Given the description of an element on the screen output the (x, y) to click on. 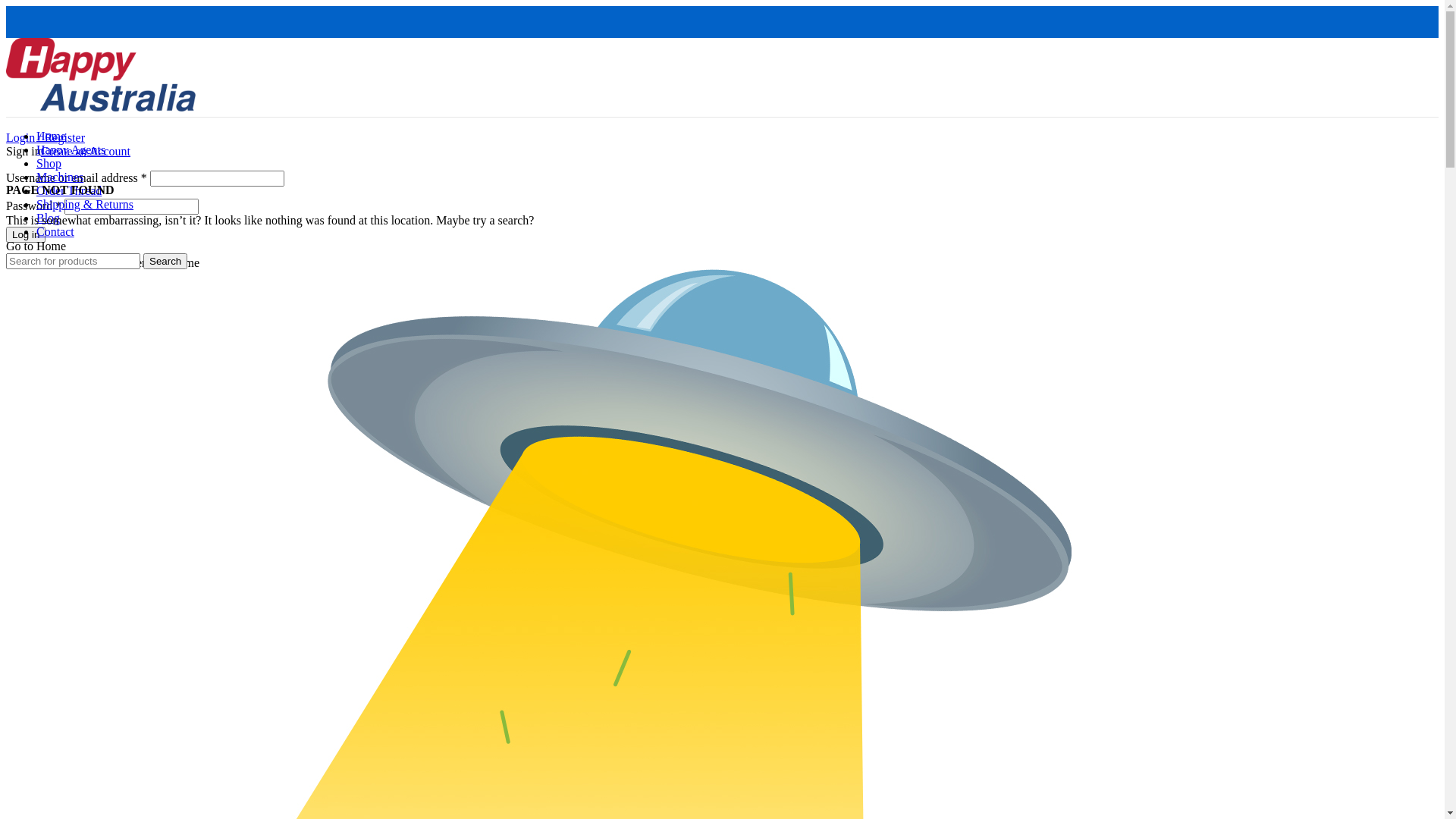
Wishlist Element type: text (26, 301)
Search Element type: text (22, 288)
Happy Agents Element type: text (70, 149)
Blog Element type: text (47, 217)
Create an Account Element type: text (85, 150)
Lost your password? Element type: text (56, 262)
Search Element type: text (165, 261)
Login / Register Element type: text (45, 137)
Home Element type: text (50, 135)
Contact Element type: text (55, 231)
Search for products Element type: hover (73, 261)
0 items $0.00 Element type: text (39, 315)
Menu Element type: text (20, 329)
Shop Element type: text (48, 162)
Shipping & Returns Element type: text (84, 203)
Machines Element type: text (59, 176)
Order Thread Element type: text (68, 190)
Go to Home Element type: text (35, 245)
Log in Element type: text (25, 234)
0 items $0.00 Element type: text (39, 395)
Remember me Element type: hover (117, 261)
